Given the description of an element on the screen output the (x, y) to click on. 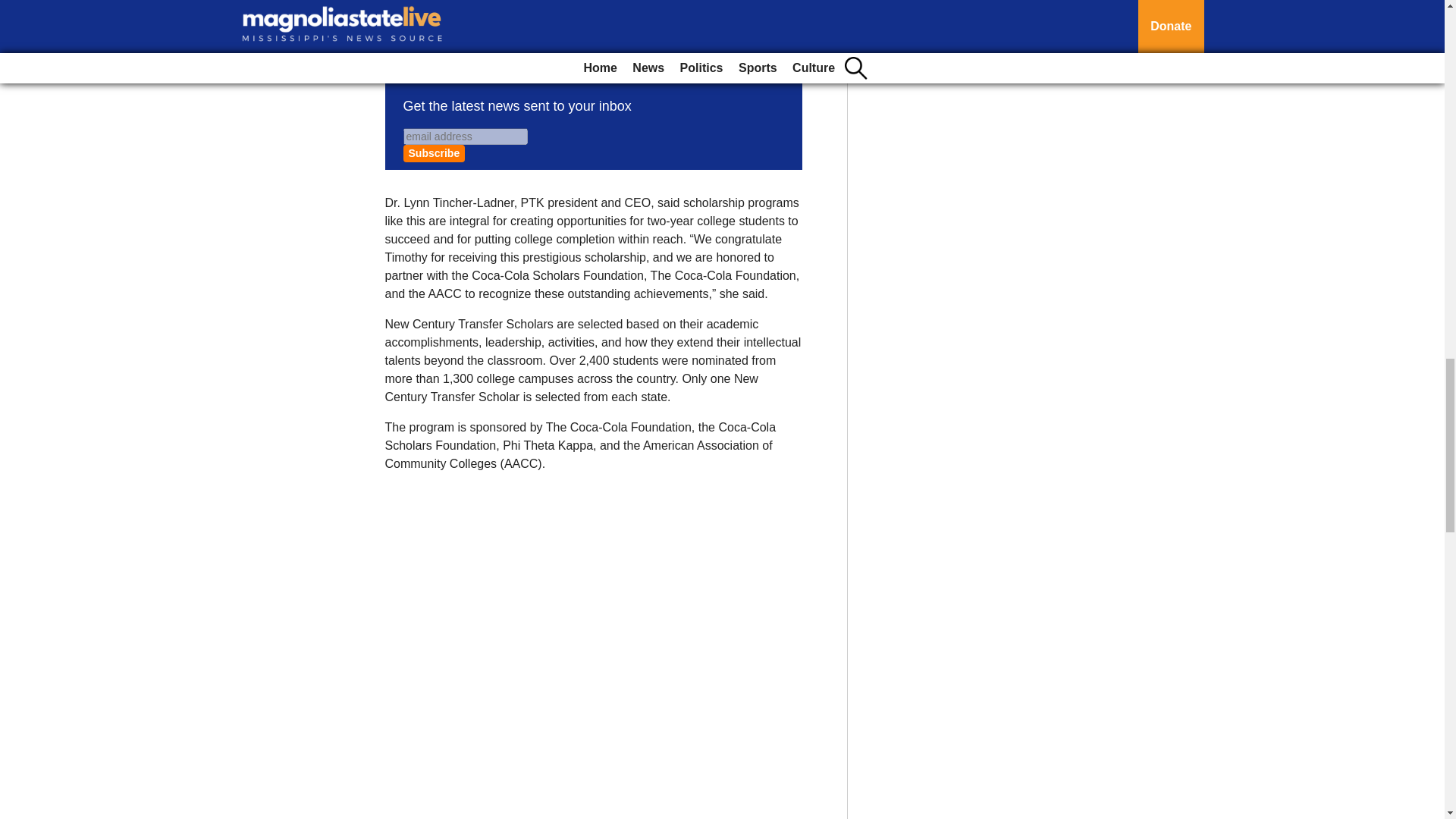
Subscribe (434, 153)
Subscribe (434, 153)
